Given the description of an element on the screen output the (x, y) to click on. 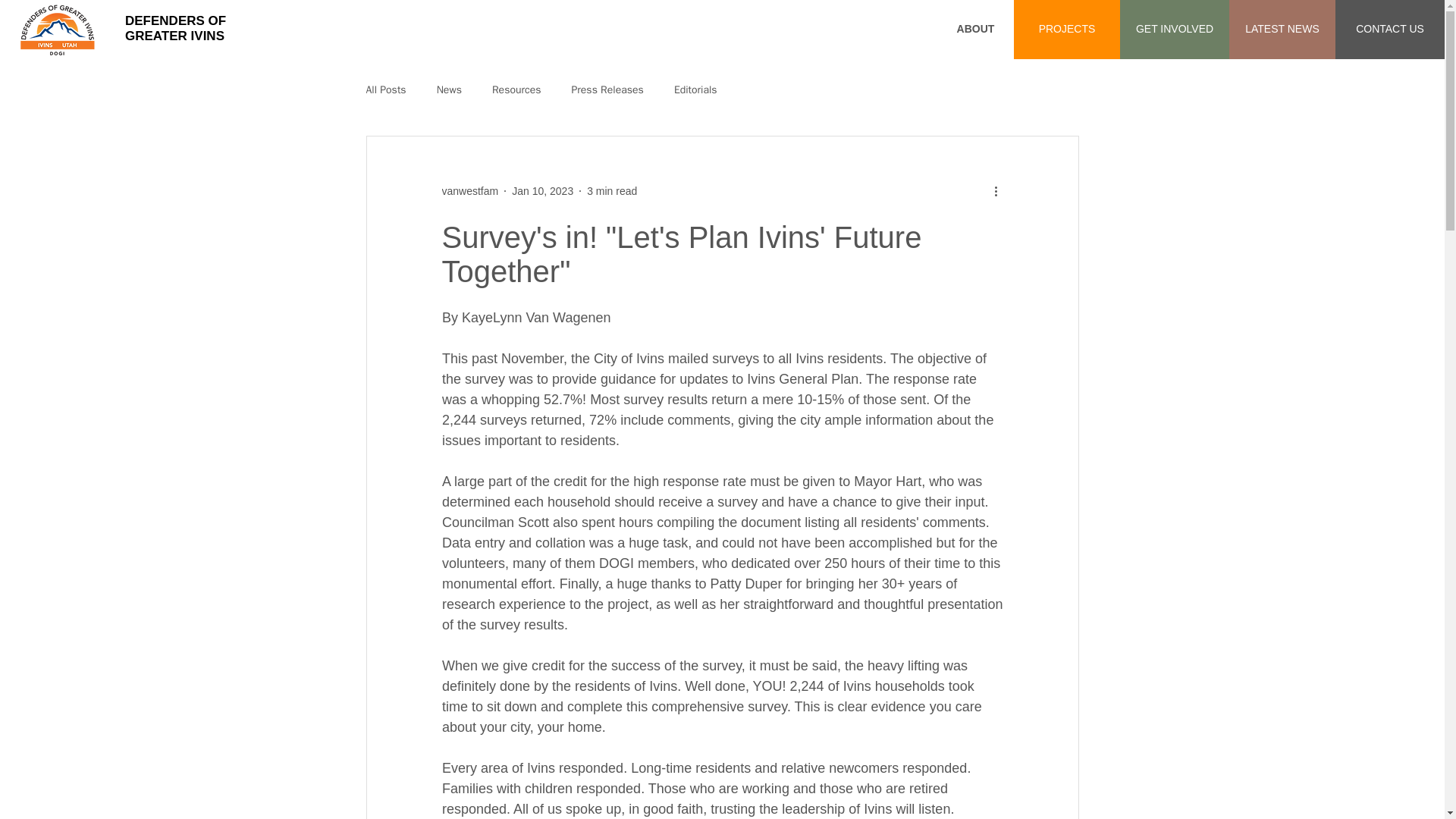
Jan 10, 2023 (542, 191)
GET INVOLVED (1173, 29)
vanwestfam (469, 191)
Press Releases (607, 90)
3 min read (175, 28)
All Posts (611, 191)
Resources (385, 90)
Editorials (516, 90)
PROJECTS (695, 90)
